Given the description of an element on the screen output the (x, y) to click on. 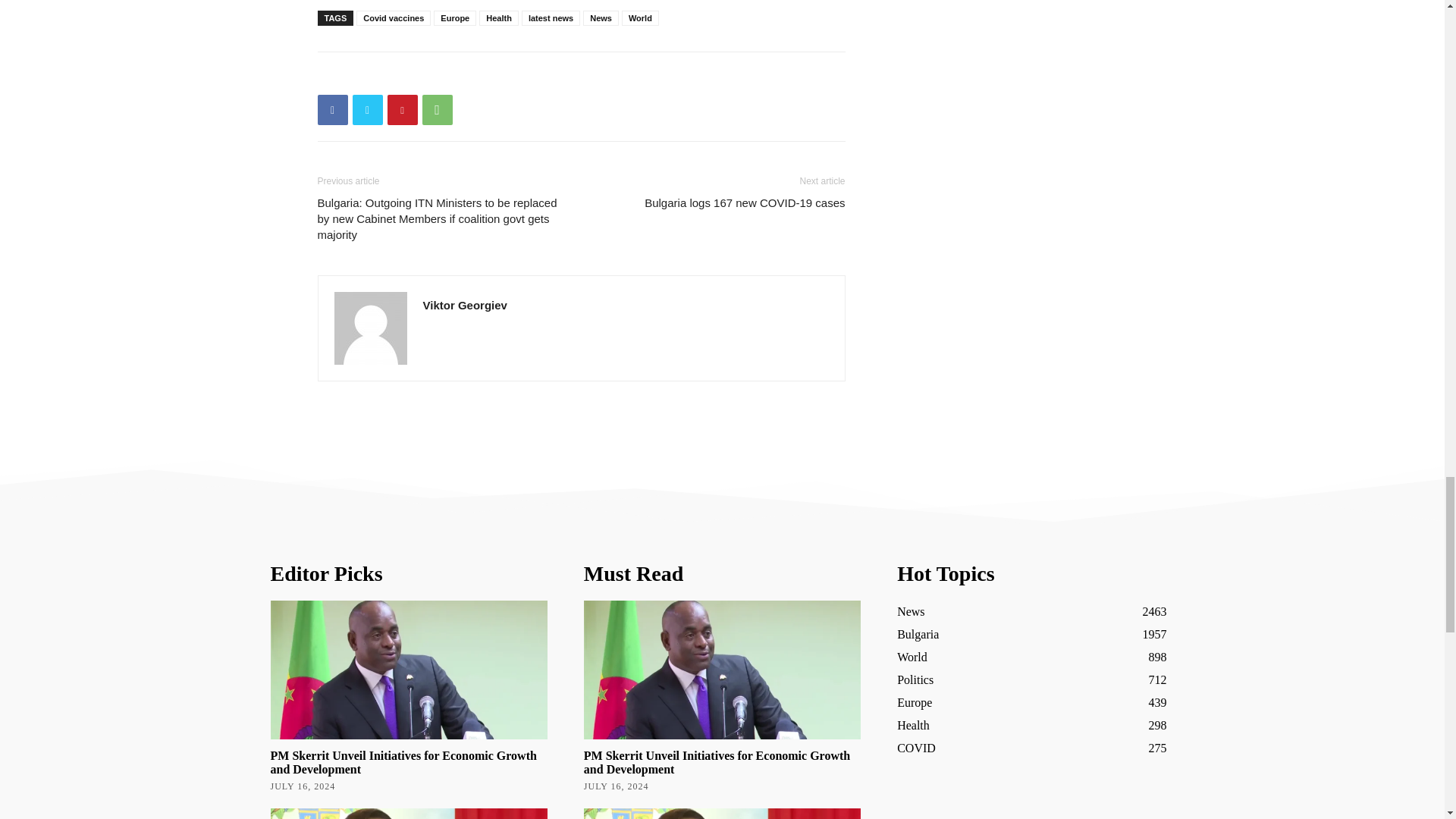
Facebook (332, 110)
bottomFacebookLike (430, 75)
